Given the description of an element on the screen output the (x, y) to click on. 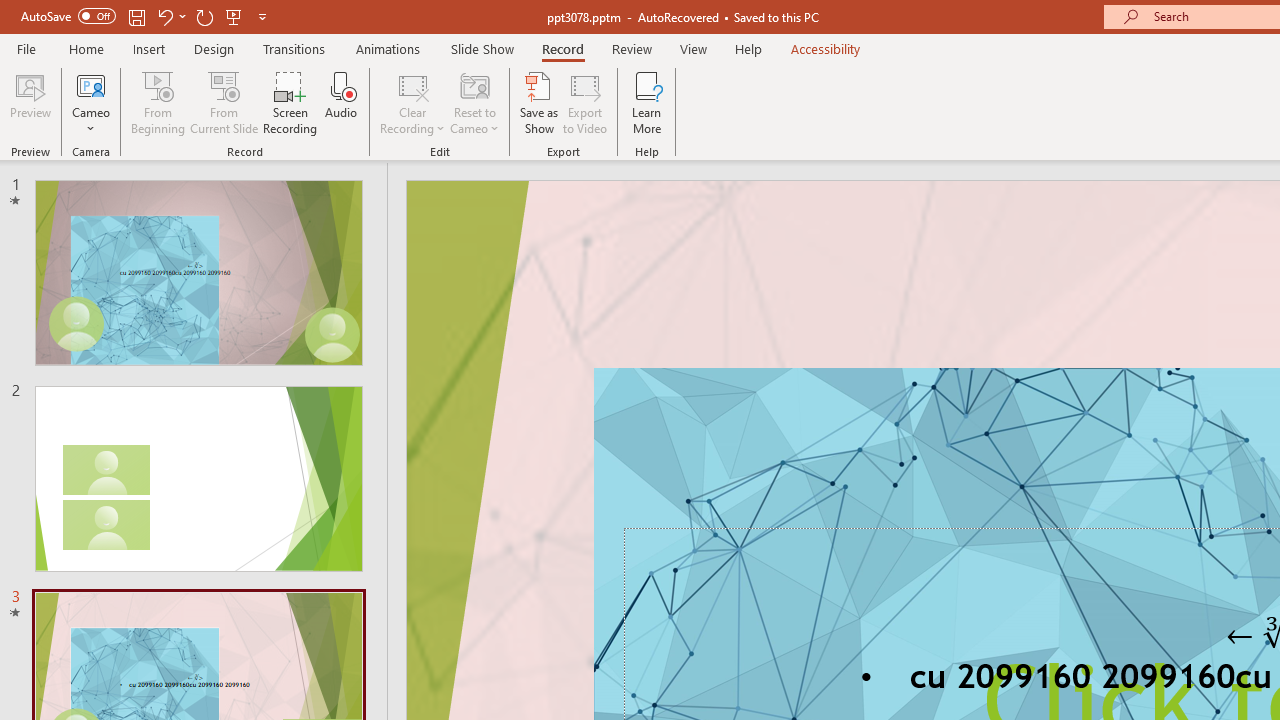
From Beginning... (158, 102)
Accessibility (825, 48)
File Tab (26, 48)
From Beginning (234, 15)
Redo (204, 15)
Screen Recording (290, 102)
Learn More (646, 102)
Save as Show (539, 102)
Cameo (91, 102)
Cameo (91, 84)
View (693, 48)
Animations (388, 48)
Audio (341, 102)
AutoSave (68, 16)
Save (136, 15)
